Given the description of an element on the screen output the (x, y) to click on. 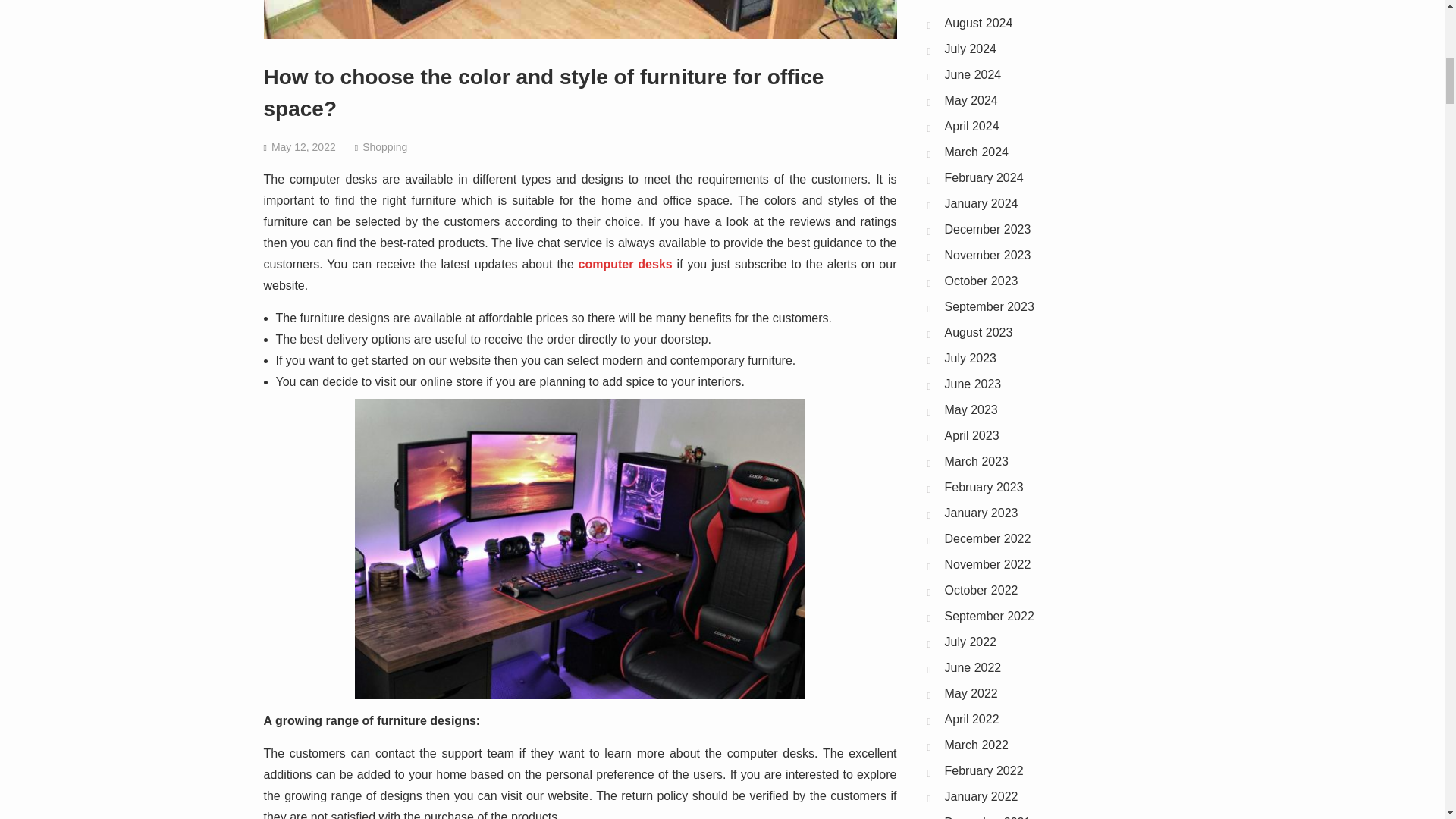
Shopping (384, 146)
May 12, 2022 (303, 146)
computer desks (625, 264)
